Given the description of an element on the screen output the (x, y) to click on. 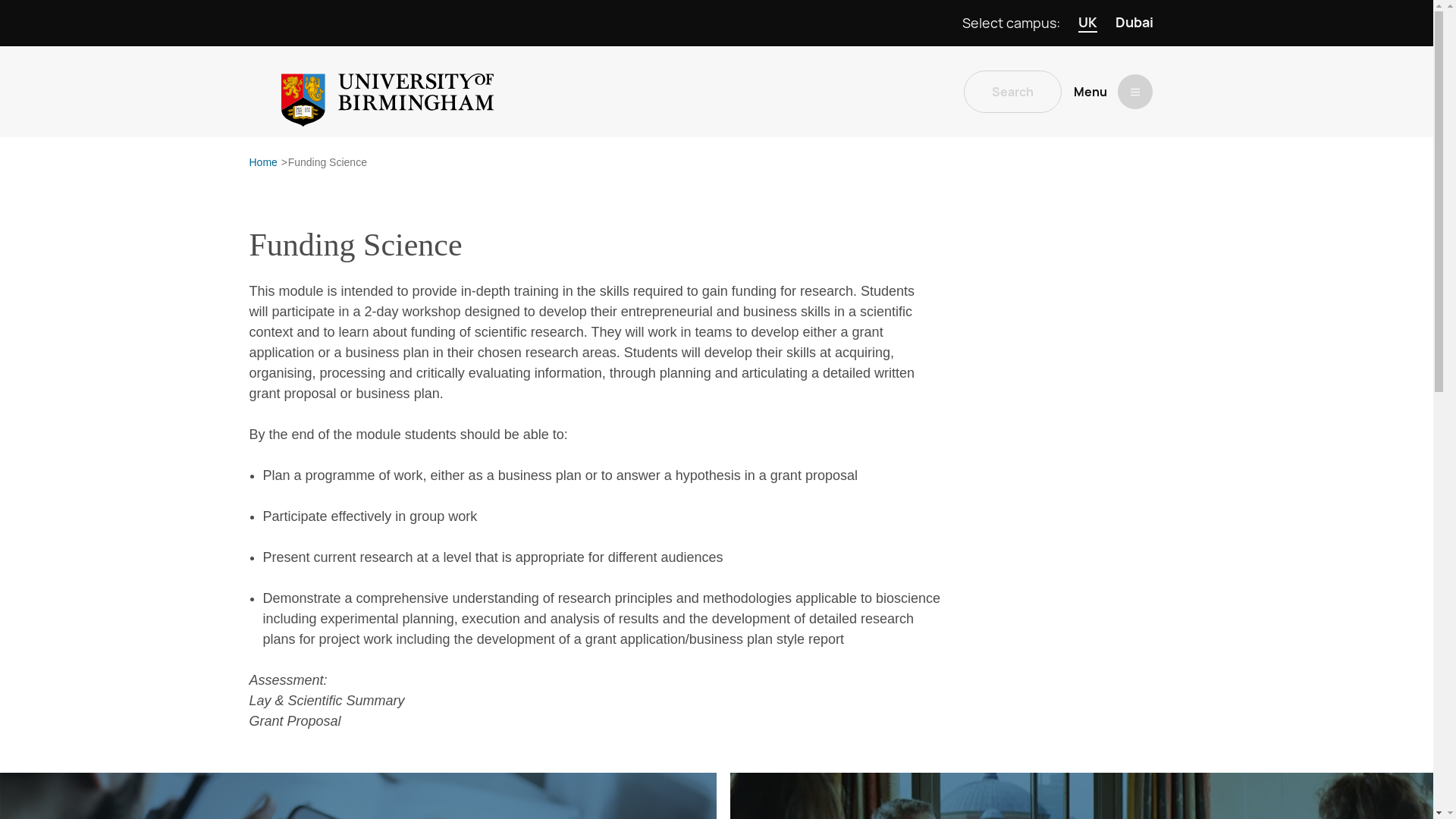
Home (262, 162)
UK (1087, 23)
Funding Science (327, 162)
Search (1012, 91)
Dubai (1134, 23)
